Given the description of an element on the screen output the (x, y) to click on. 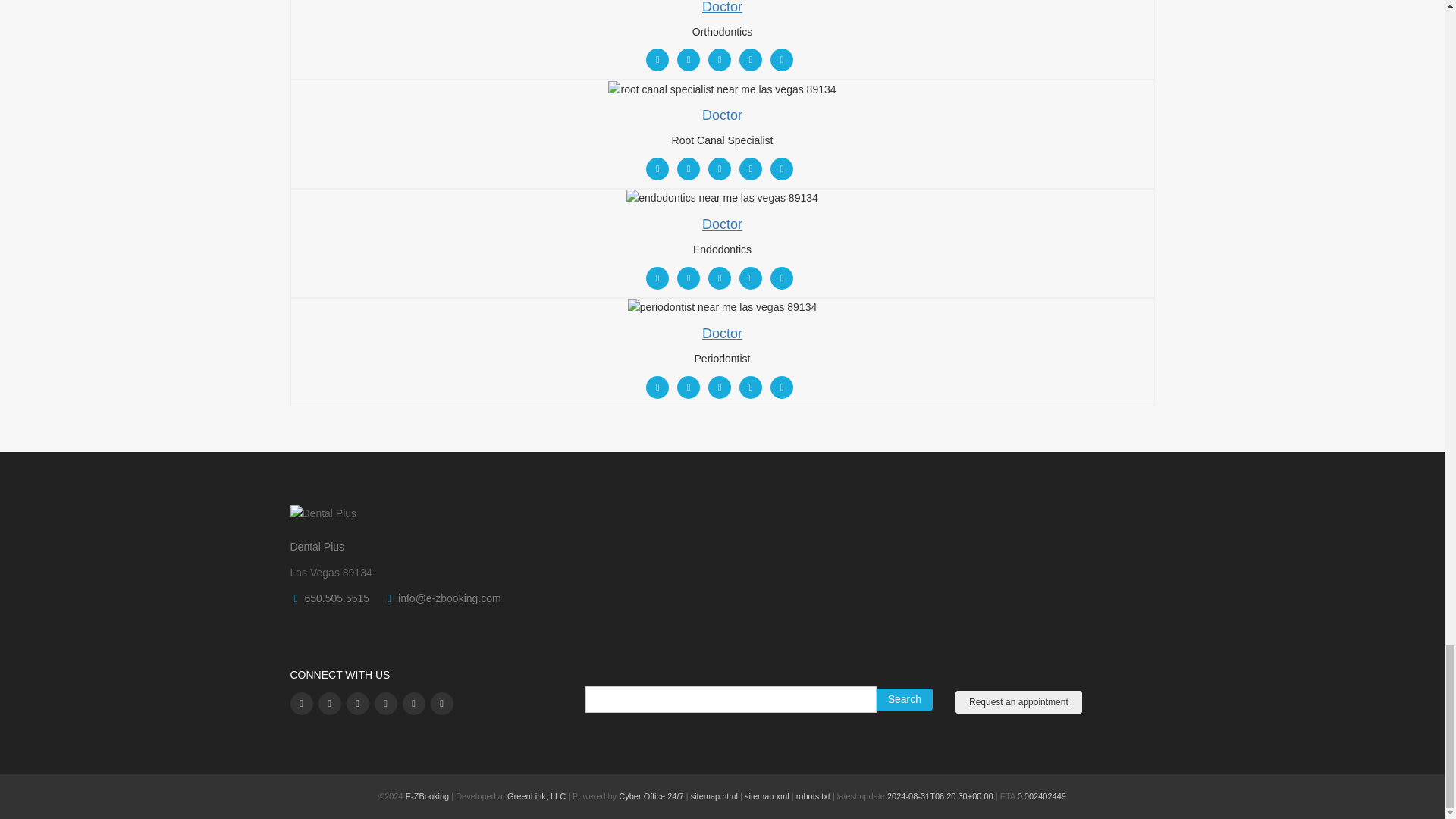
root canal specialist near me las vegas 89134 (721, 90)
periodontist near me las vegas 89134 (721, 307)
endodontics near me las vegas 89134 (722, 198)
